Given the description of an element on the screen output the (x, y) to click on. 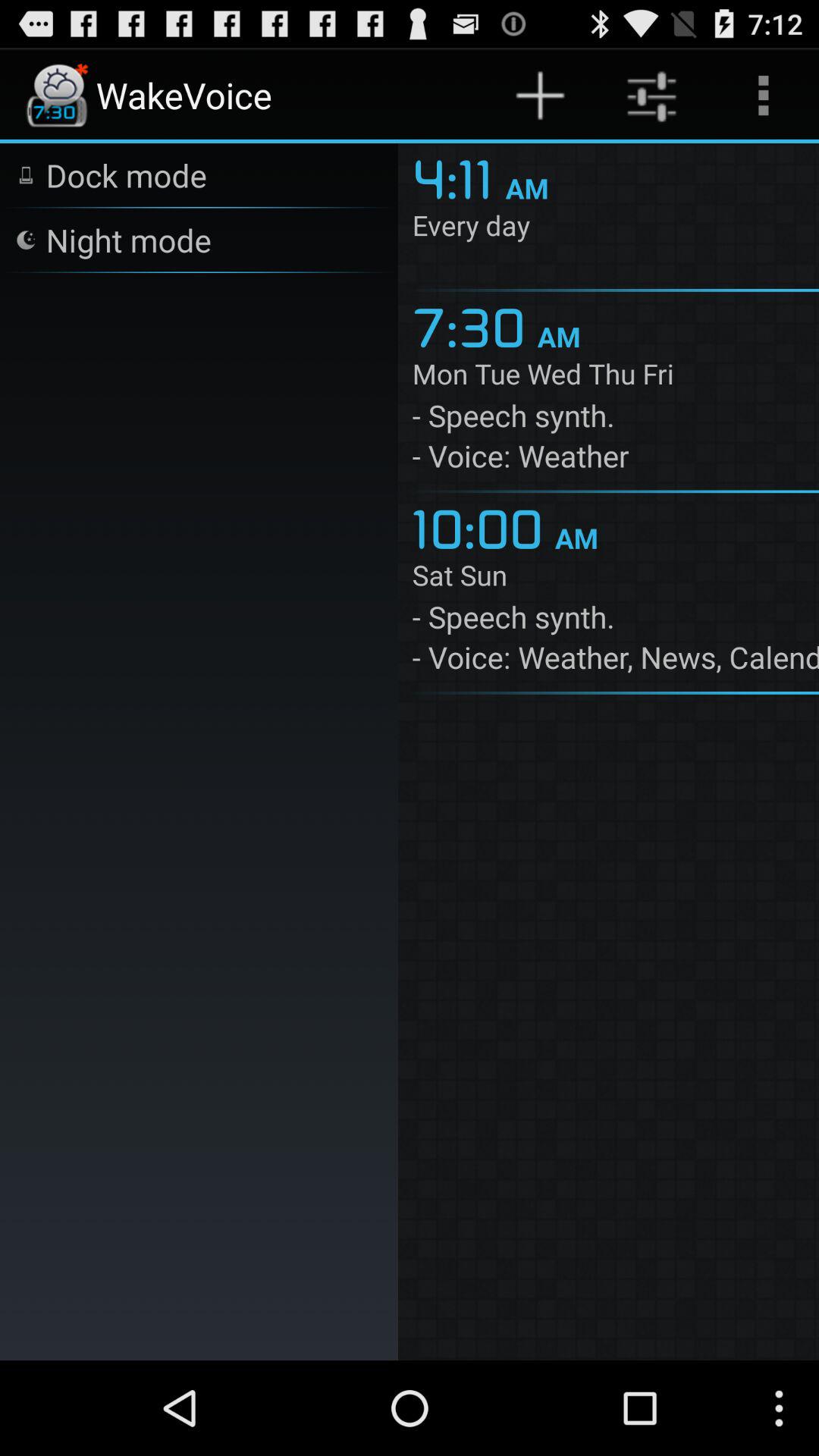
press the icon above night mode item (126, 174)
